Given the description of an element on the screen output the (x, y) to click on. 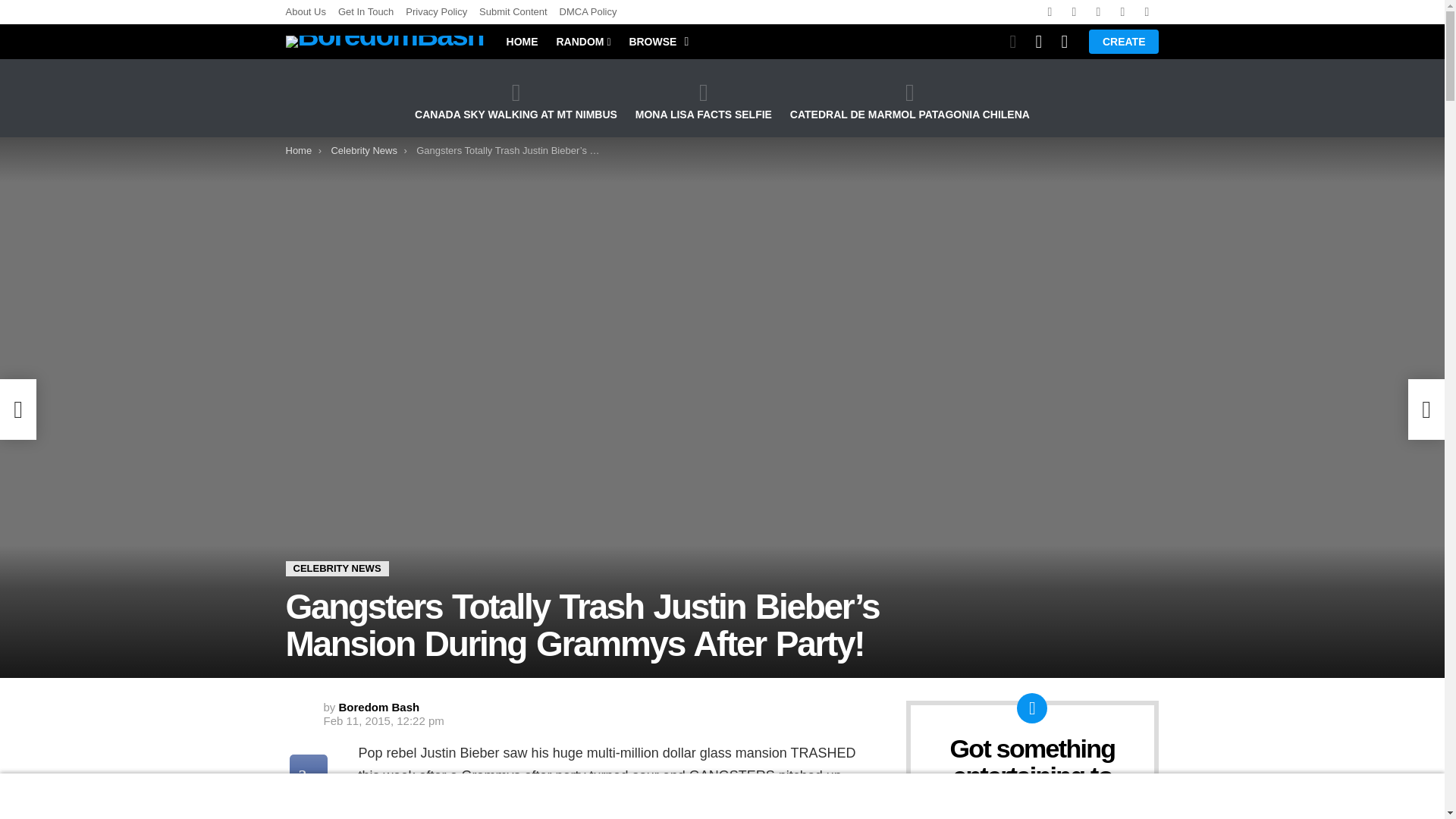
About Us (304, 12)
MONA LISA FACTS SELFIE (702, 100)
Submit Content (513, 12)
Privacy Policy (436, 12)
twitter (1073, 11)
Get In Touch (365, 12)
BROWSE (654, 41)
Share on Share on Twitter (308, 807)
HOME (522, 41)
CATEDRAL DE MARMOL PATAGONIA CHILENA (909, 100)
